Given the description of an element on the screen output the (x, y) to click on. 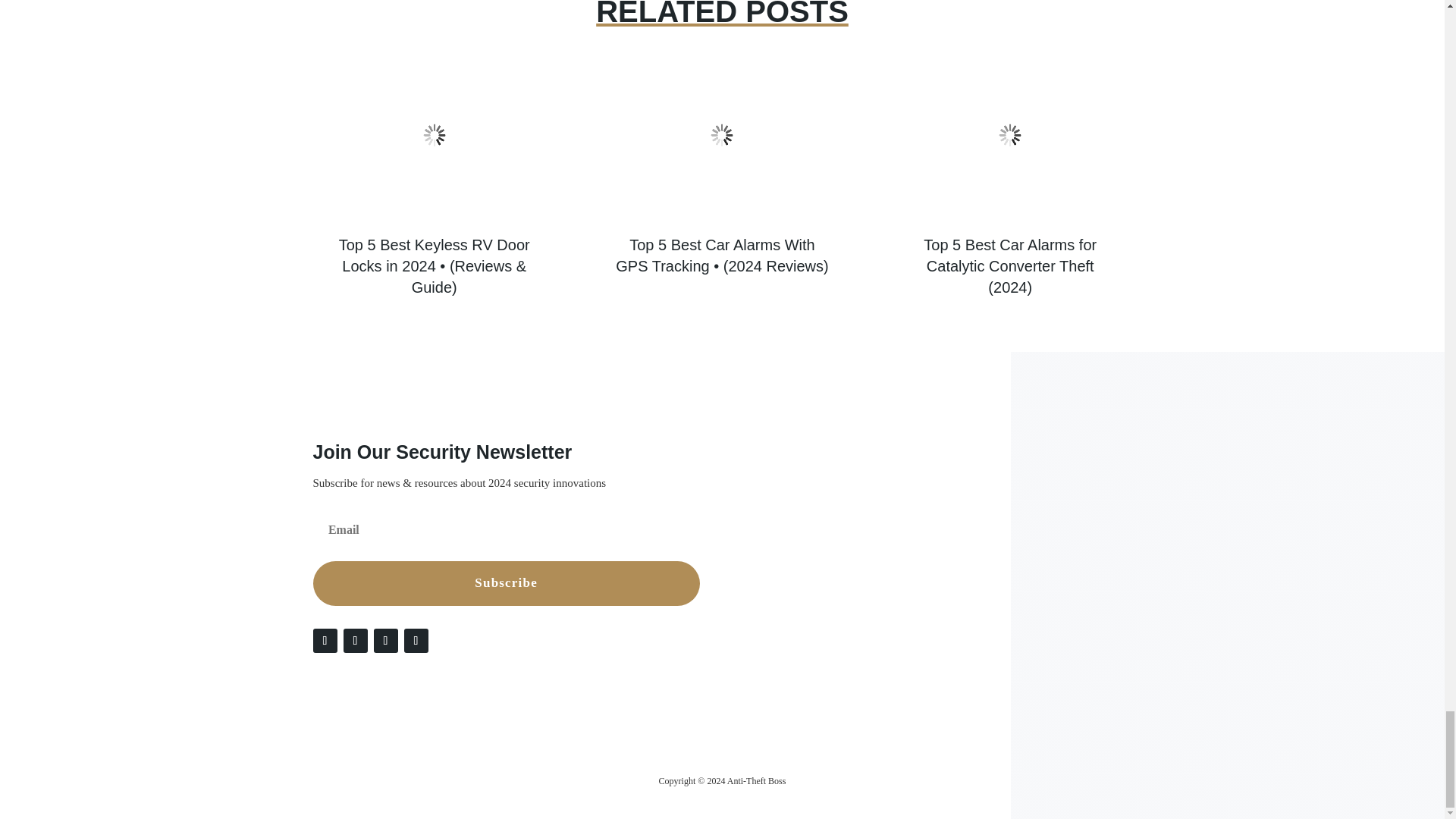
Follow on Youtube (415, 640)
Follow on Facebook (324, 640)
Follow on LinkedIn (384, 640)
Follow on Twitter (354, 640)
